Given the description of an element on the screen output the (x, y) to click on. 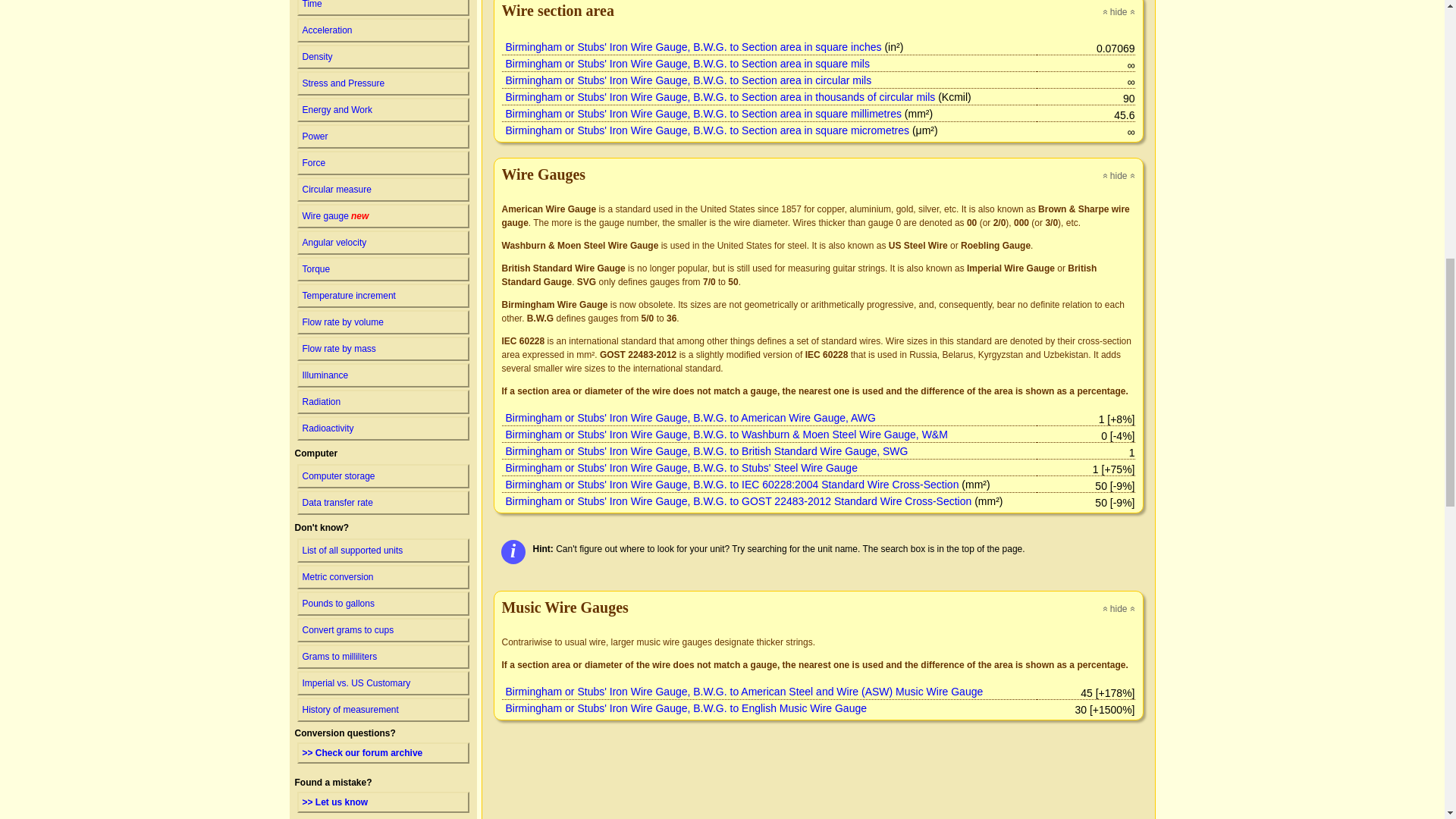
Force (382, 215)
Density (382, 162)
Time (382, 56)
Stress and Pressure (382, 5)
Energy and Work (382, 83)
Acceleration (382, 110)
Power (382, 29)
Circular measure (382, 136)
